Given the description of an element on the screen output the (x, y) to click on. 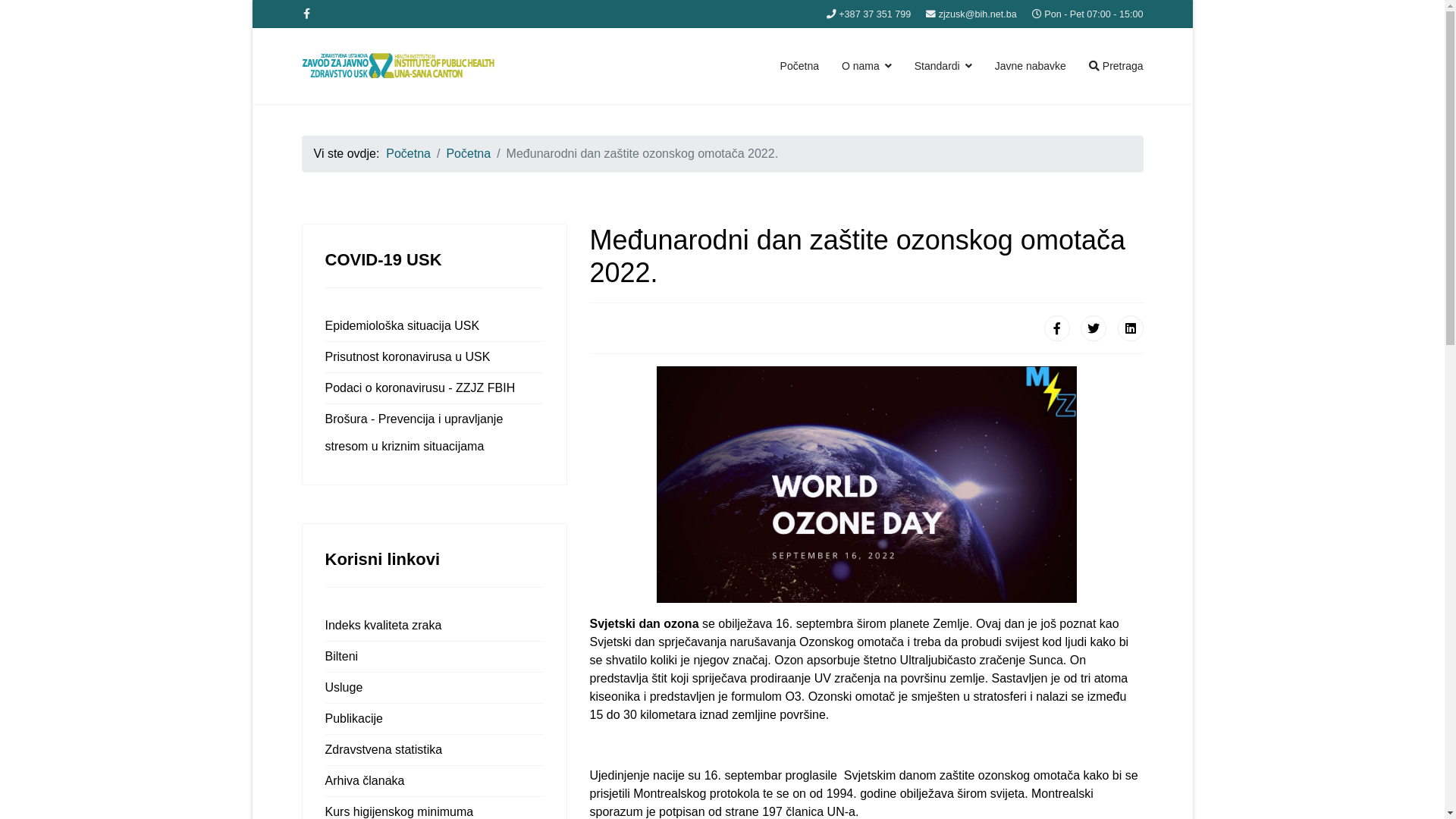
Zdravstvena statistika Element type: text (433, 749)
zjzusk@bih.net.ba Element type: text (977, 14)
Publikacije Element type: text (433, 718)
Indeks kvaliteta zraka Element type: text (433, 625)
Javne nabavke Element type: text (1030, 65)
Podaci o koronavirusu - ZZJZ FBIH Element type: text (433, 388)
Twitter Element type: hover (1093, 328)
Bilteni Element type: text (433, 656)
Pretraga Element type: text (1115, 65)
+387 37 351 799 Element type: text (874, 14)
Prisutnost koronavirusa u USK Element type: text (433, 357)
O nama Element type: text (866, 65)
LinkedIn Element type: hover (1130, 328)
Facebook Element type: hover (1057, 328)
Standardi Element type: text (943, 65)
Usluge Element type: text (433, 687)
